Given the description of an element on the screen output the (x, y) to click on. 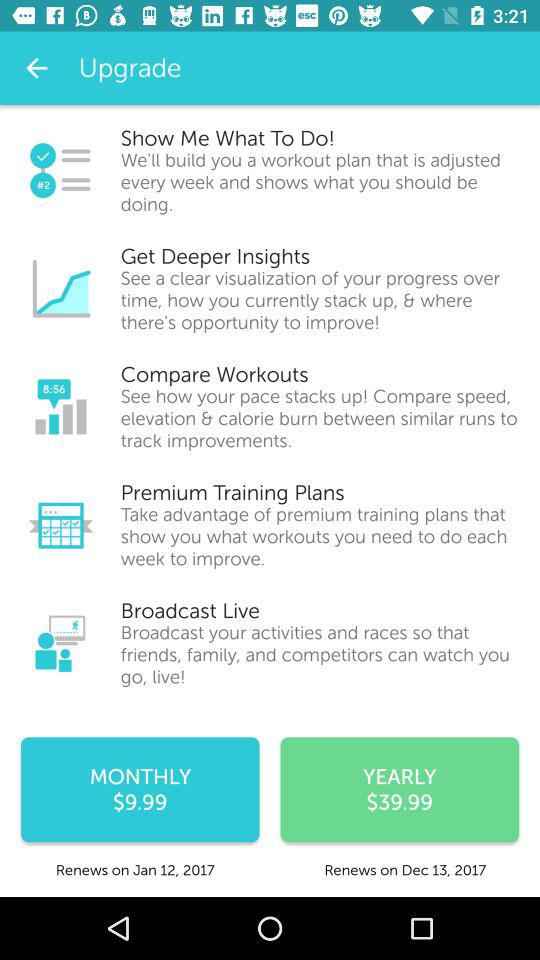
turn on the icon below the broadcast your activities item (399, 789)
